Given the description of an element on the screen output the (x, y) to click on. 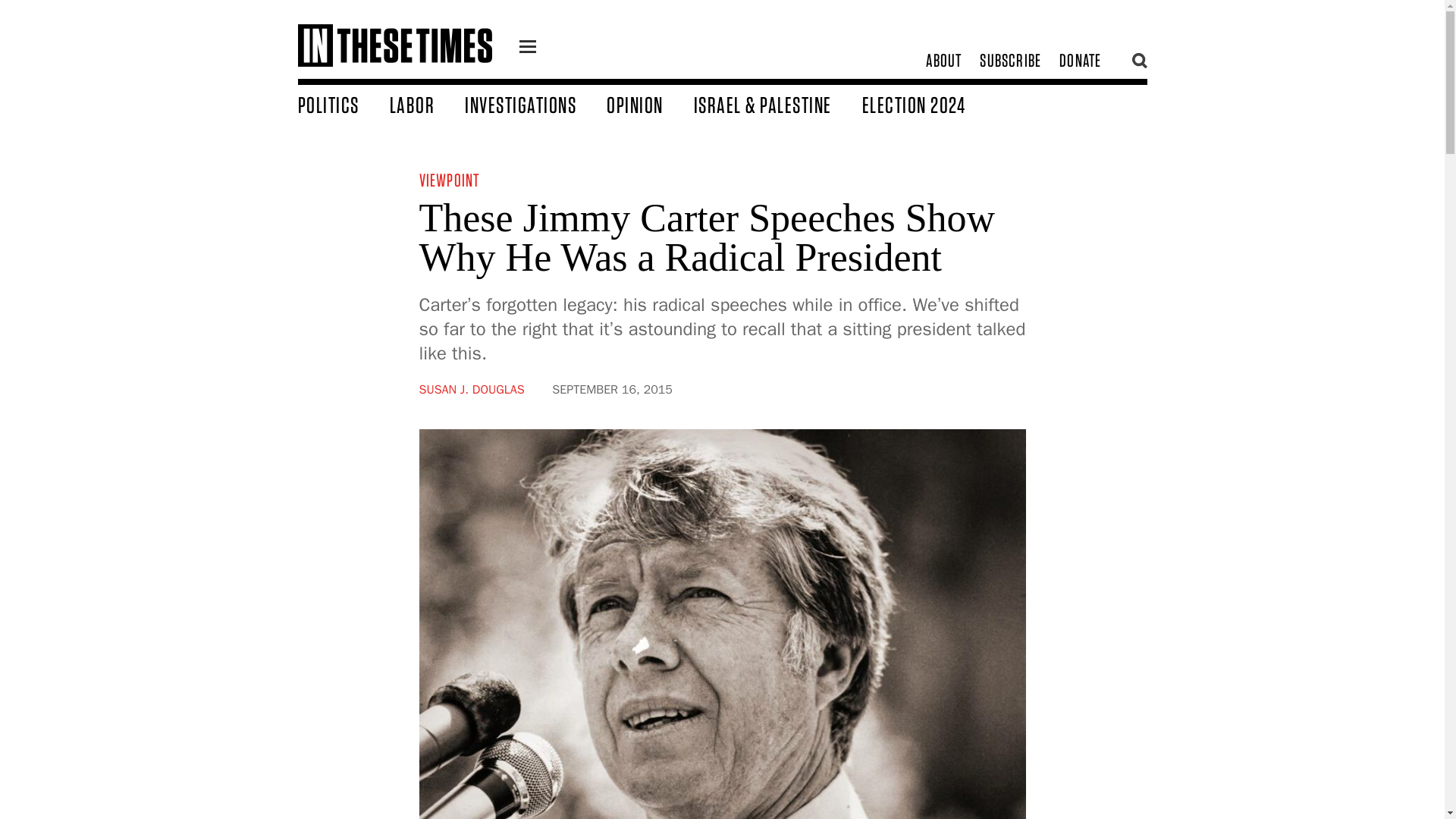
LABOR (427, 103)
OPINION (650, 103)
ELECTION 2024 (928, 103)
POLITICS (342, 103)
SUSAN J. DOUGLAS (471, 389)
VIEWPOINT (449, 179)
INVESTIGATIONS (535, 103)
SUBSCRIBE (1010, 60)
DONATE (1079, 60)
